Given the description of an element on the screen output the (x, y) to click on. 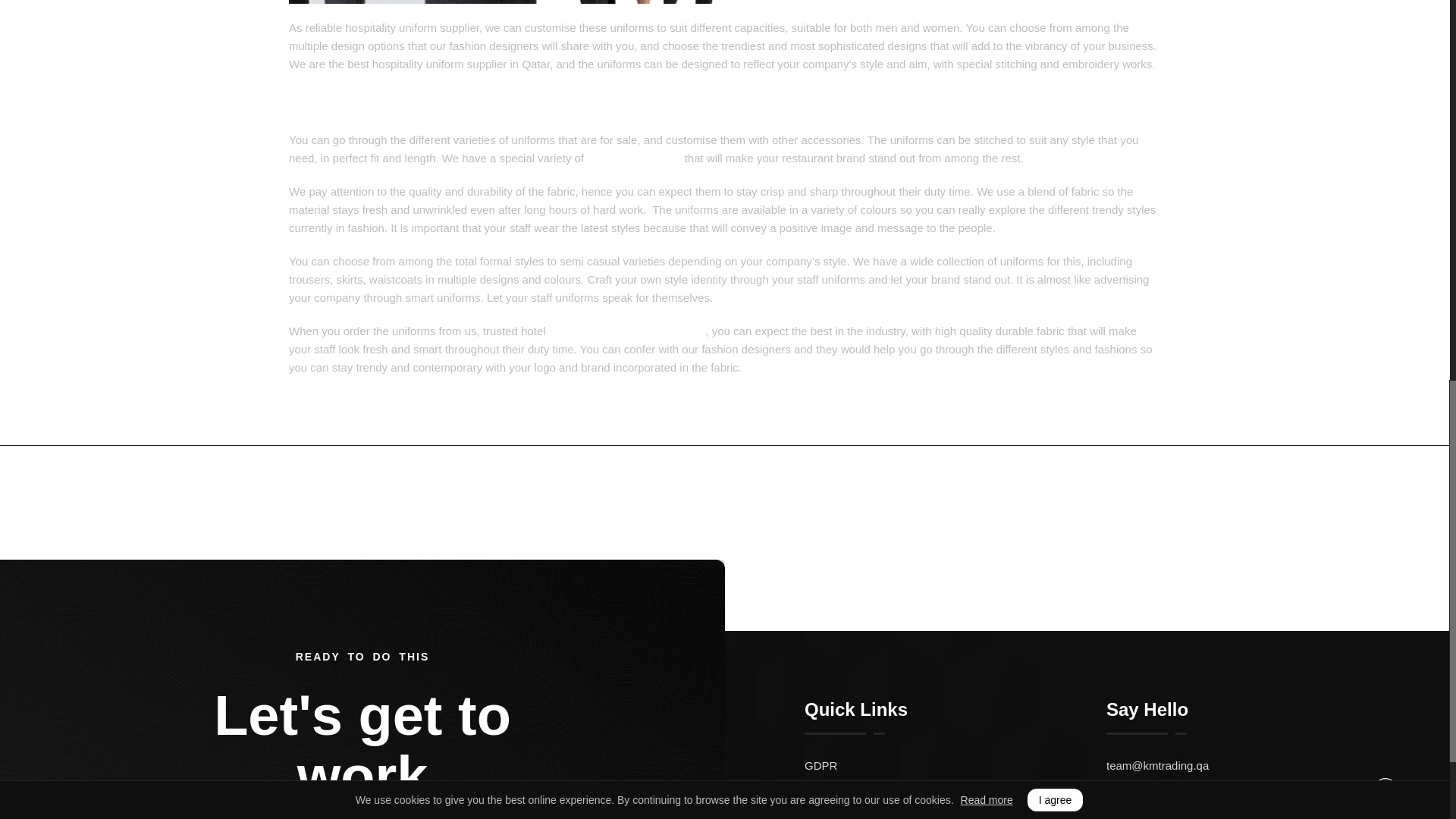
chef uniform Qatar (633, 157)
Privacy Policy (955, 810)
uniform manufacturers in Qatar (627, 330)
Contact (1103, 500)
Terms and conditions (955, 788)
GDPR (955, 765)
